Given the description of an element on the screen output the (x, y) to click on. 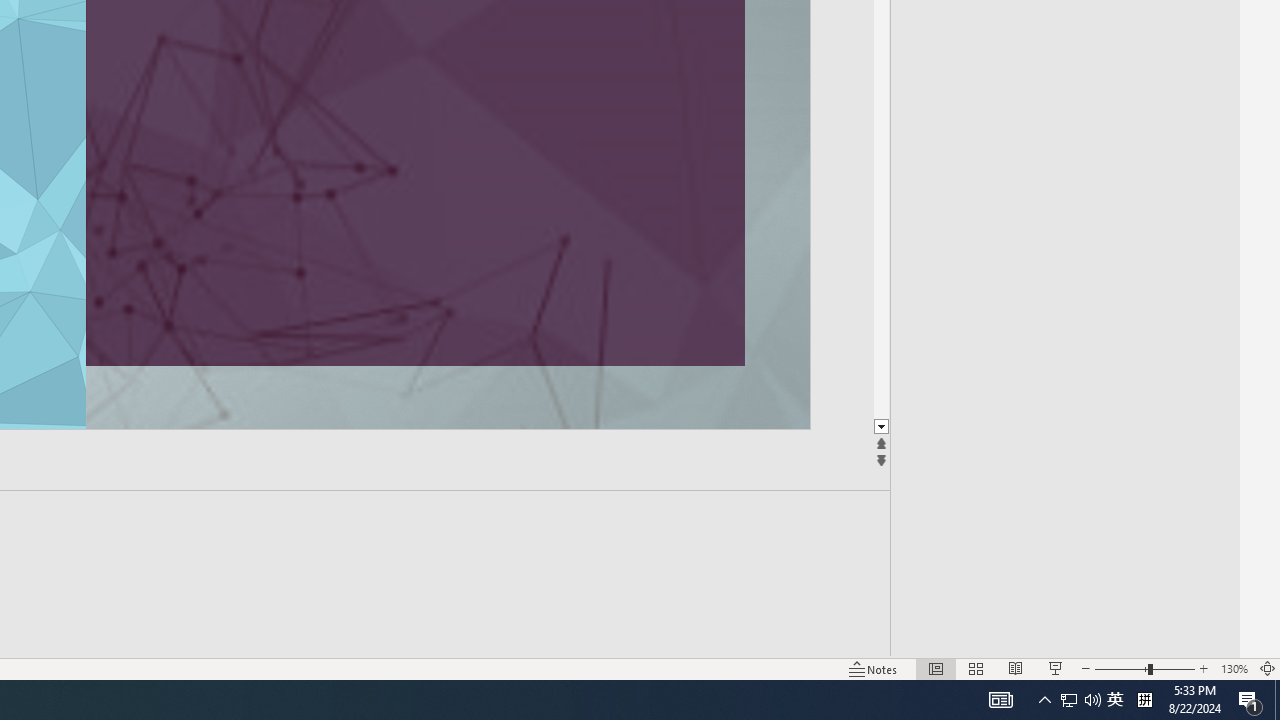
Action Center, 1 new notification (1250, 699)
